Given the description of an element on the screen output the (x, y) to click on. 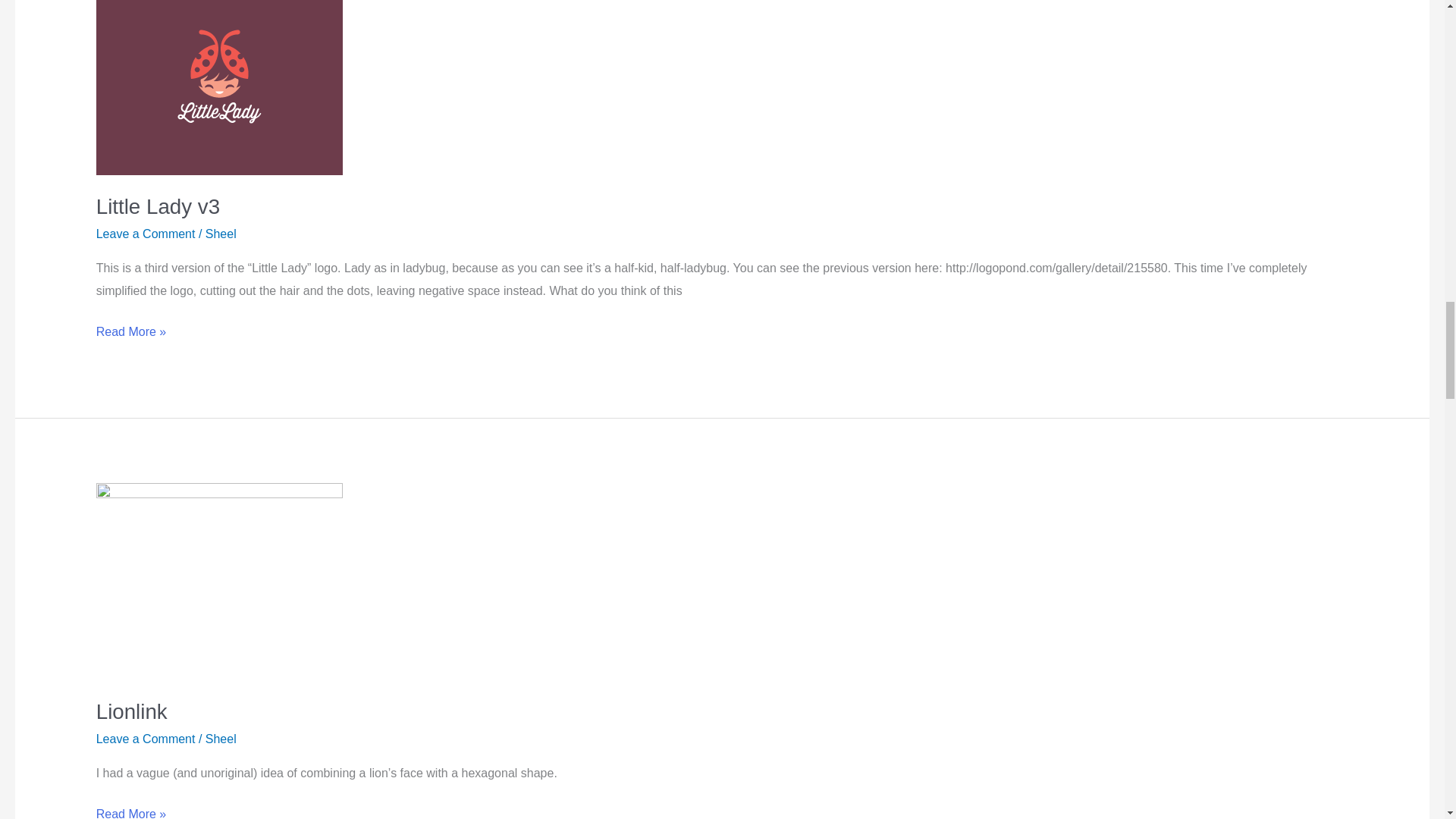
Little Lady v3 (157, 206)
Sheel (220, 738)
Lionlink (131, 711)
View all posts by Sheel (220, 233)
Leave a Comment (145, 738)
Sheel (220, 233)
View all posts by Sheel (220, 738)
Leave a Comment (145, 233)
